Given the description of an element on the screen output the (x, y) to click on. 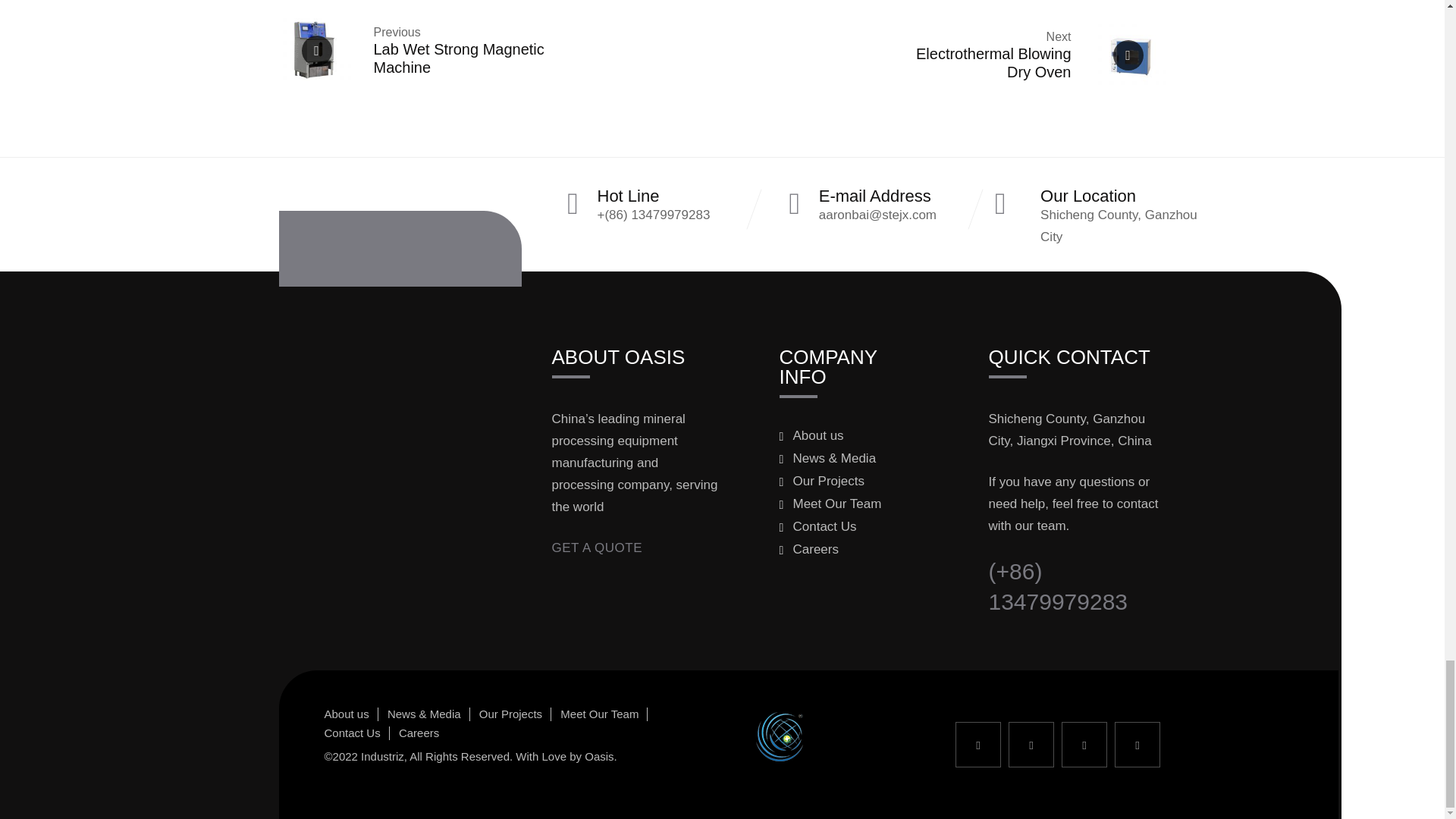
Contact Us (839, 526)
Careers (839, 549)
Meet Our Team (839, 503)
GET A QUOTE (597, 547)
About us (1027, 55)
Our Projects (839, 435)
